Given the description of an element on the screen output the (x, y) to click on. 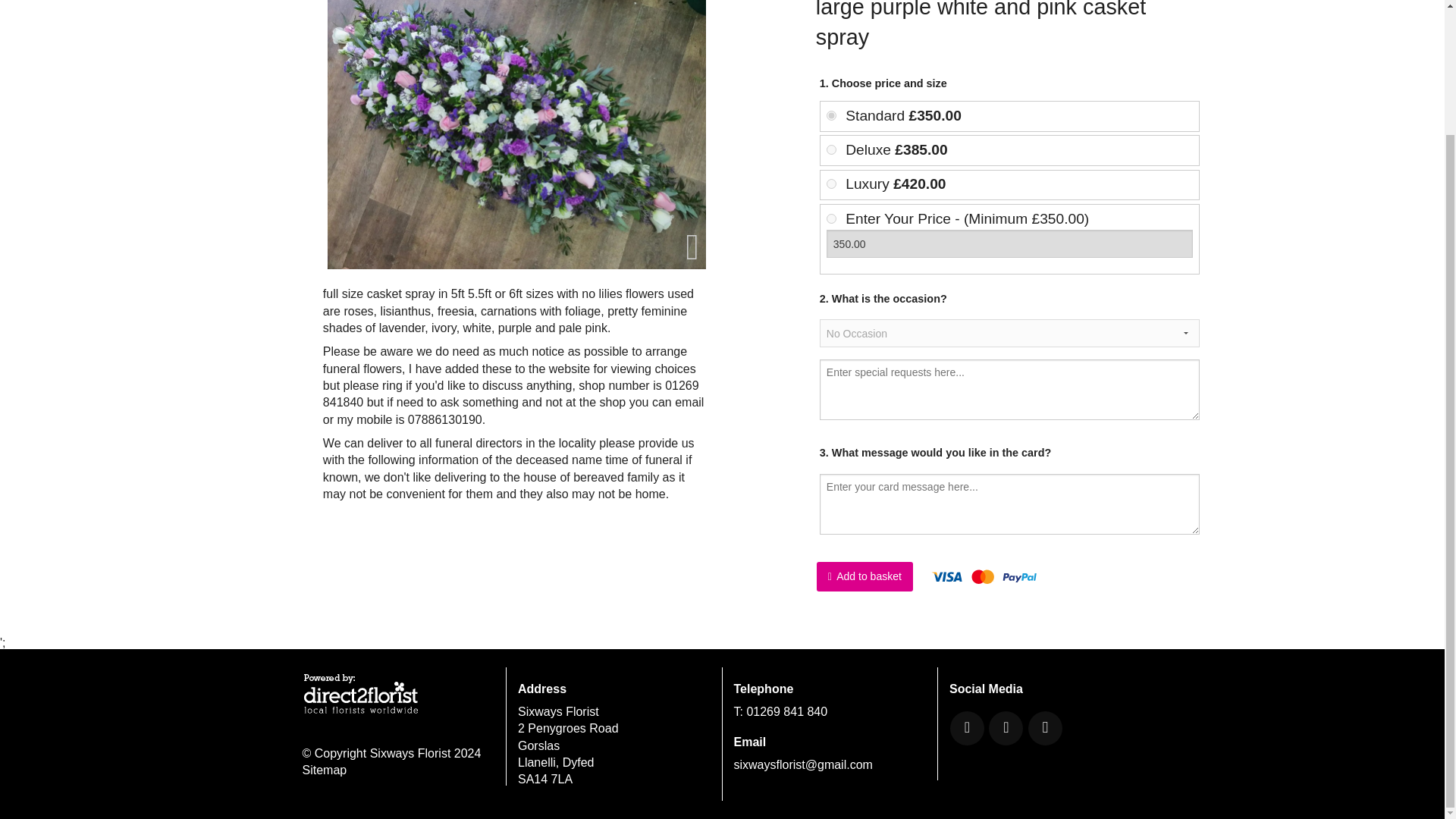
420.00 (831, 184)
350.00 (1010, 243)
350.00 (831, 115)
385.00 (831, 149)
